Given the description of an element on the screen output the (x, y) to click on. 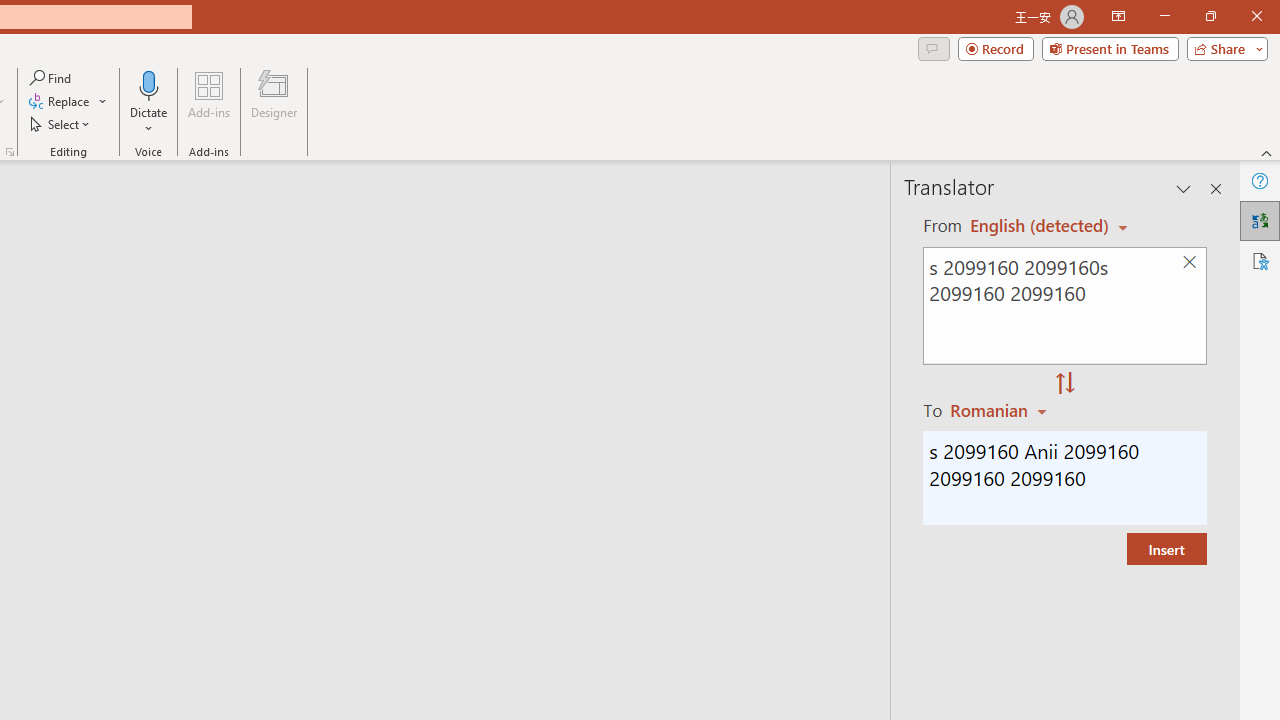
Clear text (1189, 262)
